Given the description of an element on the screen output the (x, y) to click on. 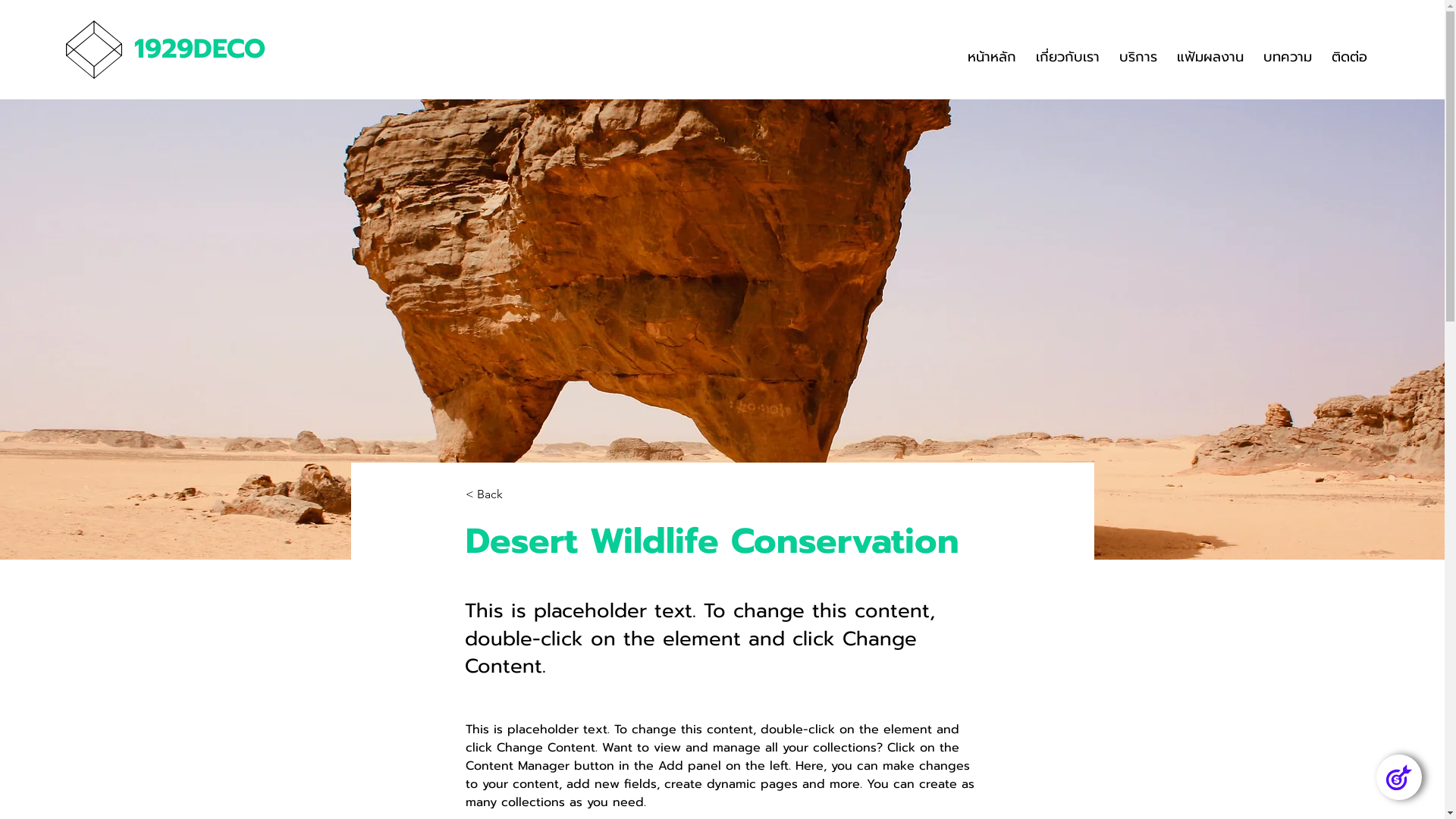
< Back Element type: text (515, 494)
1929DECO Element type: text (199, 48)
